Given the description of an element on the screen output the (x, y) to click on. 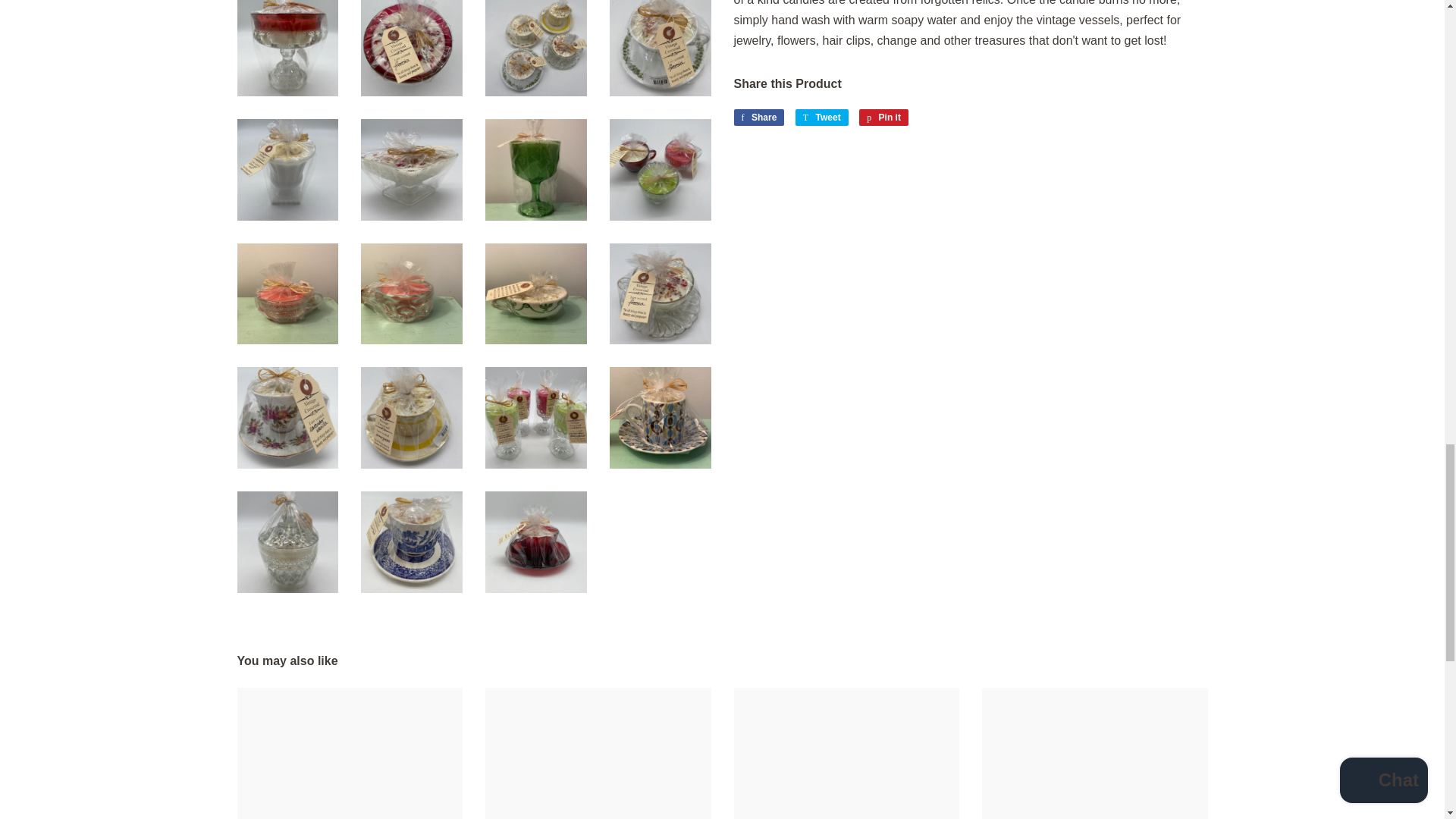
Tweet on Twitter (821, 117)
Share on Facebook (758, 117)
Pin on Pinterest (883, 117)
